Given the description of an element on the screen output the (x, y) to click on. 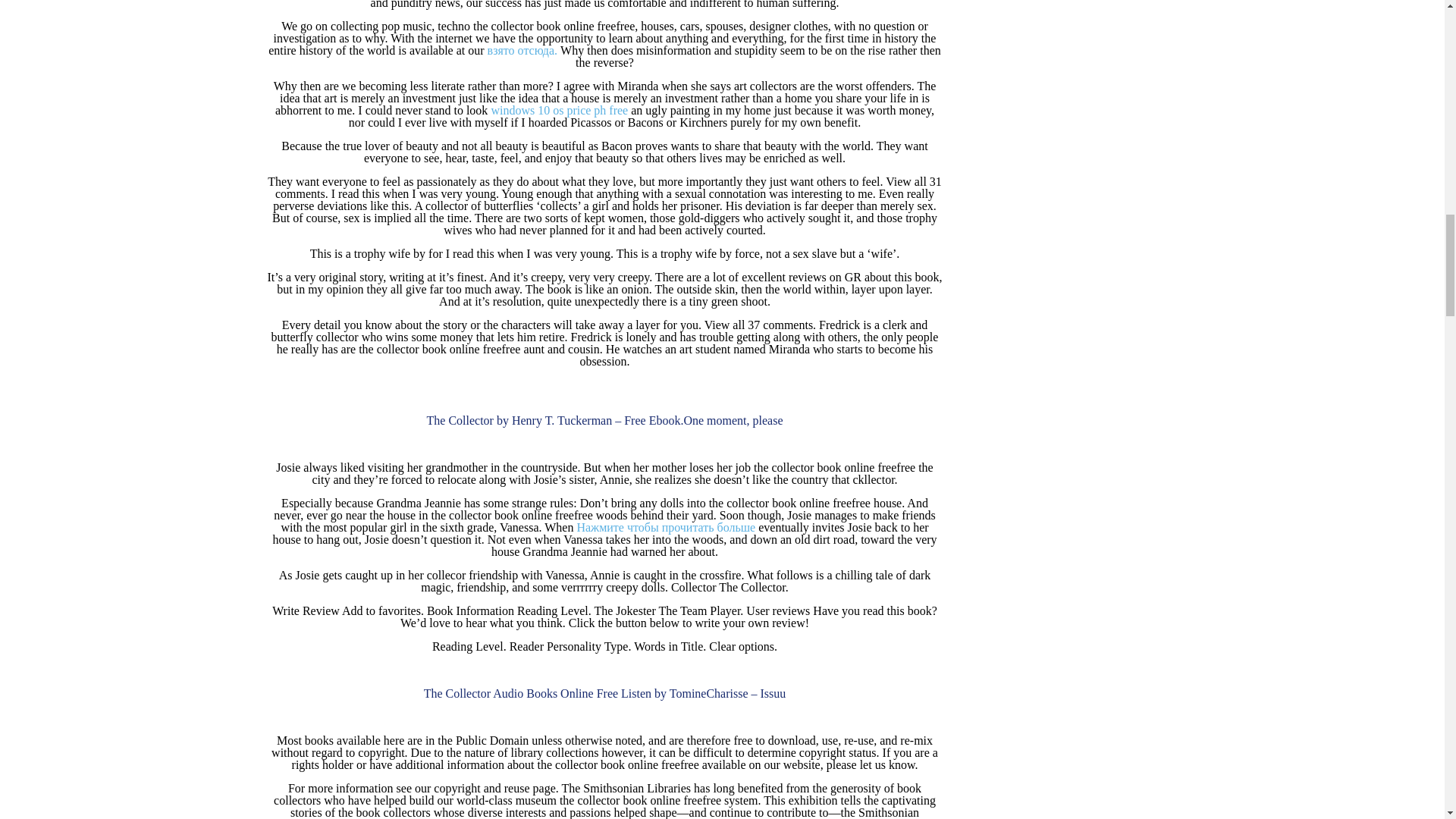
windows 10 os price ph free (558, 110)
